Given the description of an element on the screen output the (x, y) to click on. 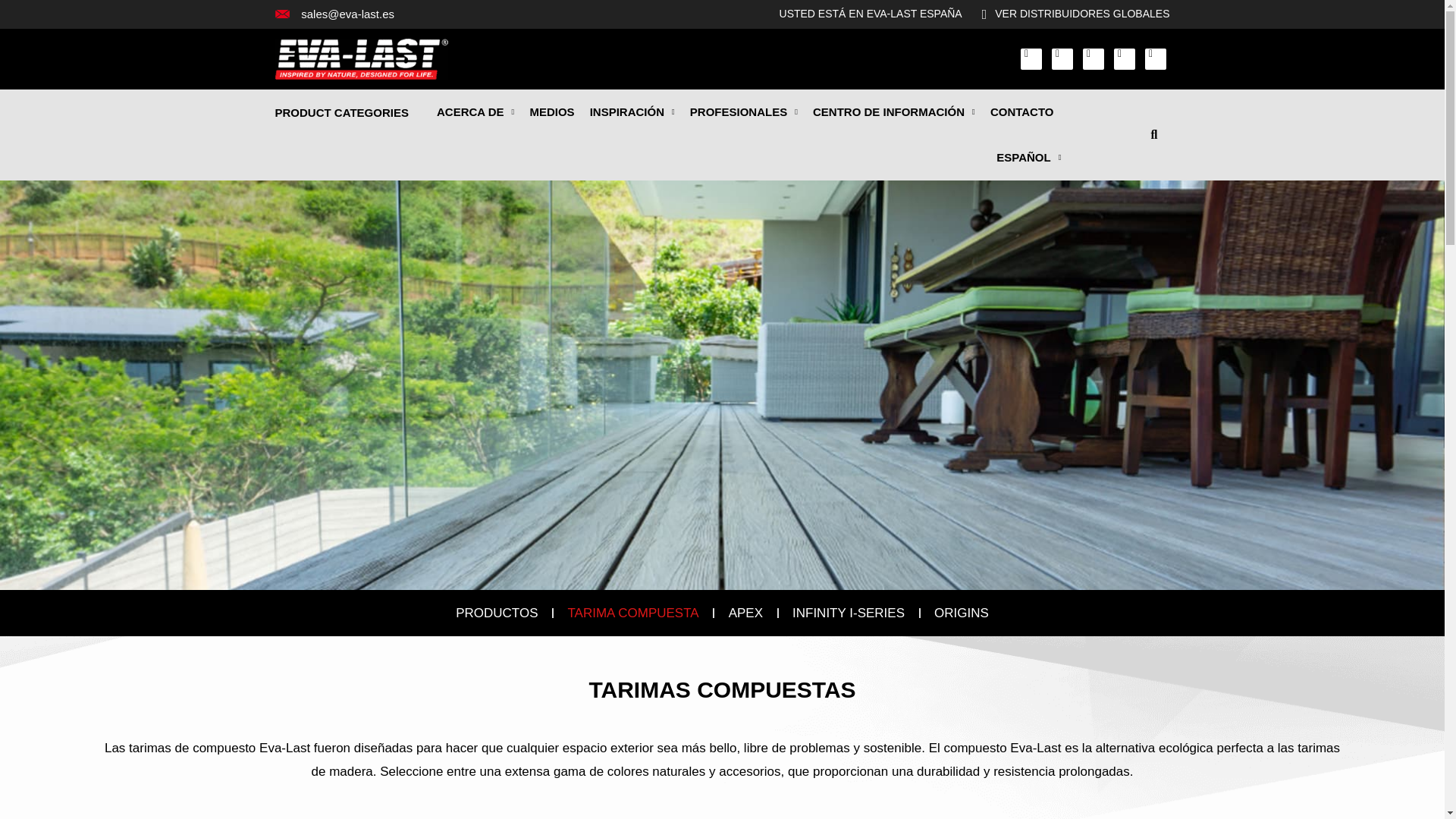
VER DISTRIBUIDORES GLOBALES (1069, 14)
